Given the description of an element on the screen output the (x, y) to click on. 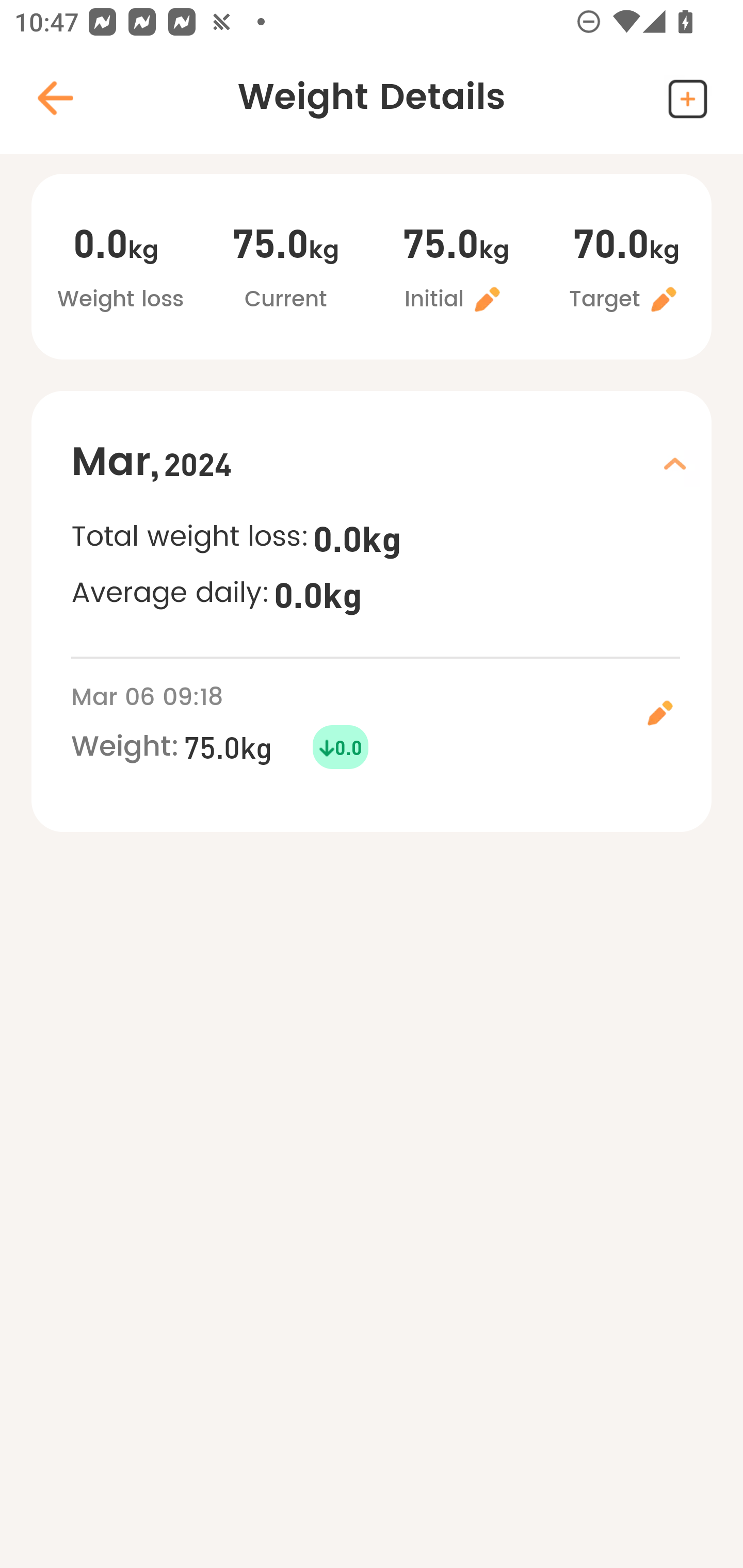
75.0kg Initial (455, 268)
70.0kg Target (625, 268)
Mar 06 09:18 Weight: 75.0kg 0.0 (391, 723)
